Given the description of an element on the screen output the (x, y) to click on. 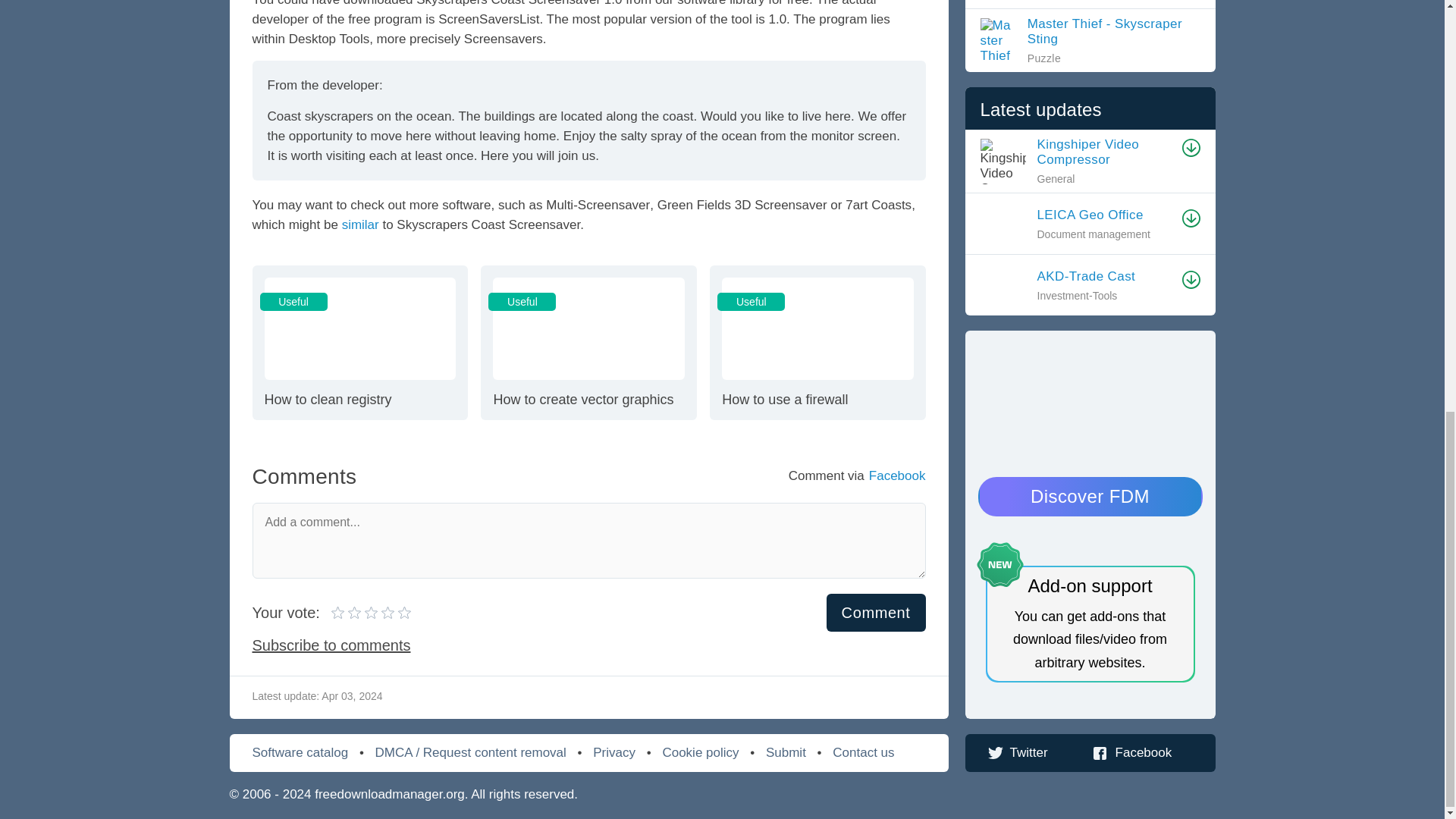
Comment (876, 612)
2 (346, 612)
5 (370, 612)
similar (360, 224)
3 (587, 342)
Comment (359, 342)
4 (355, 612)
